Given the description of an element on the screen output the (x, y) to click on. 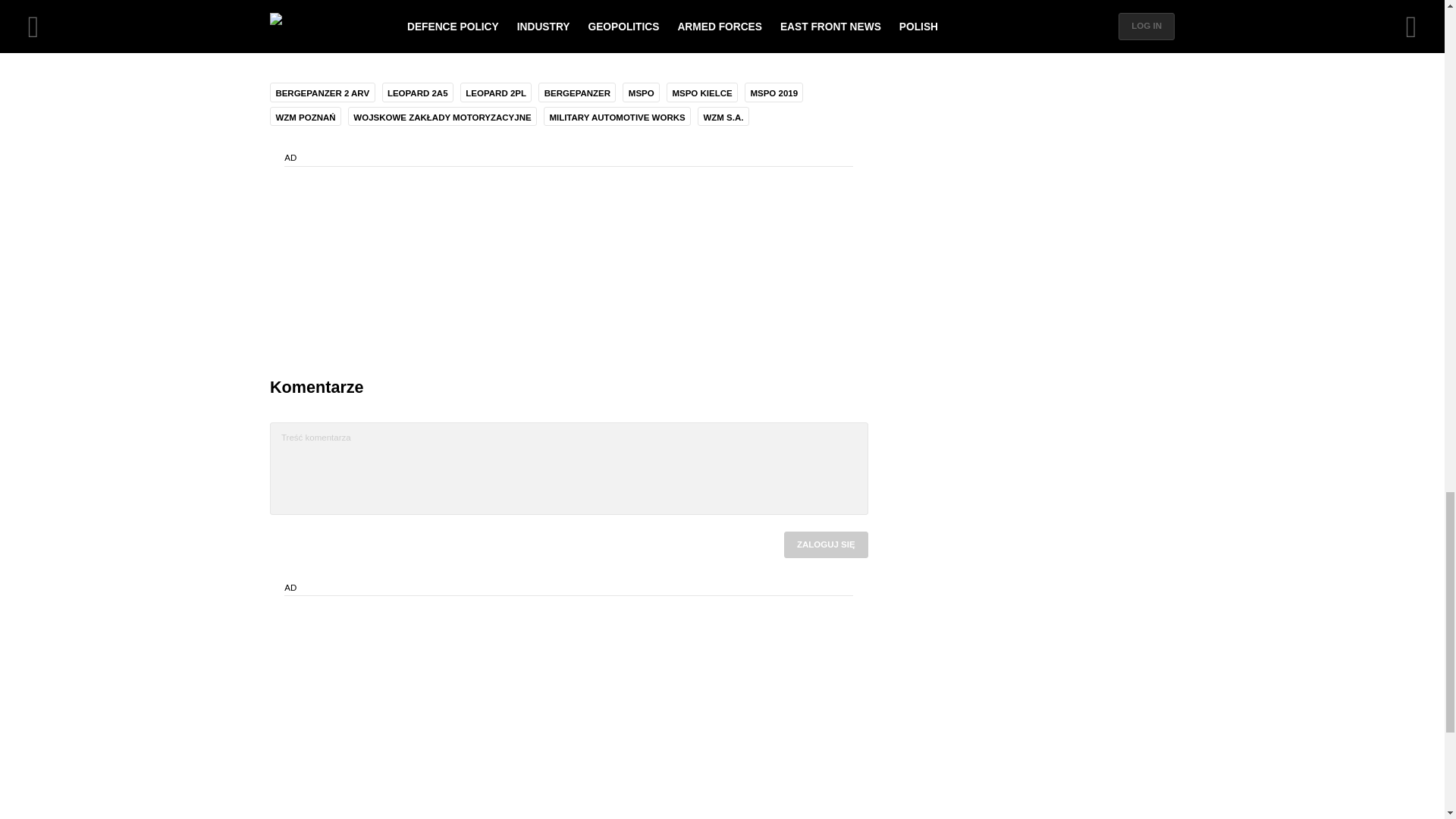
MSPO KIELCE (702, 91)
LEOPARD 2A5 (416, 91)
BERGEPANZER (576, 91)
BERGEPANZER 2 ARV (322, 91)
MSPO 2019 (773, 91)
MILITARY AUTOMOTIVE WORKS (616, 115)
MSPO (641, 91)
LEOPARD 2PL (495, 91)
WZM S.A. (723, 115)
